Given the description of an element on the screen output the (x, y) to click on. 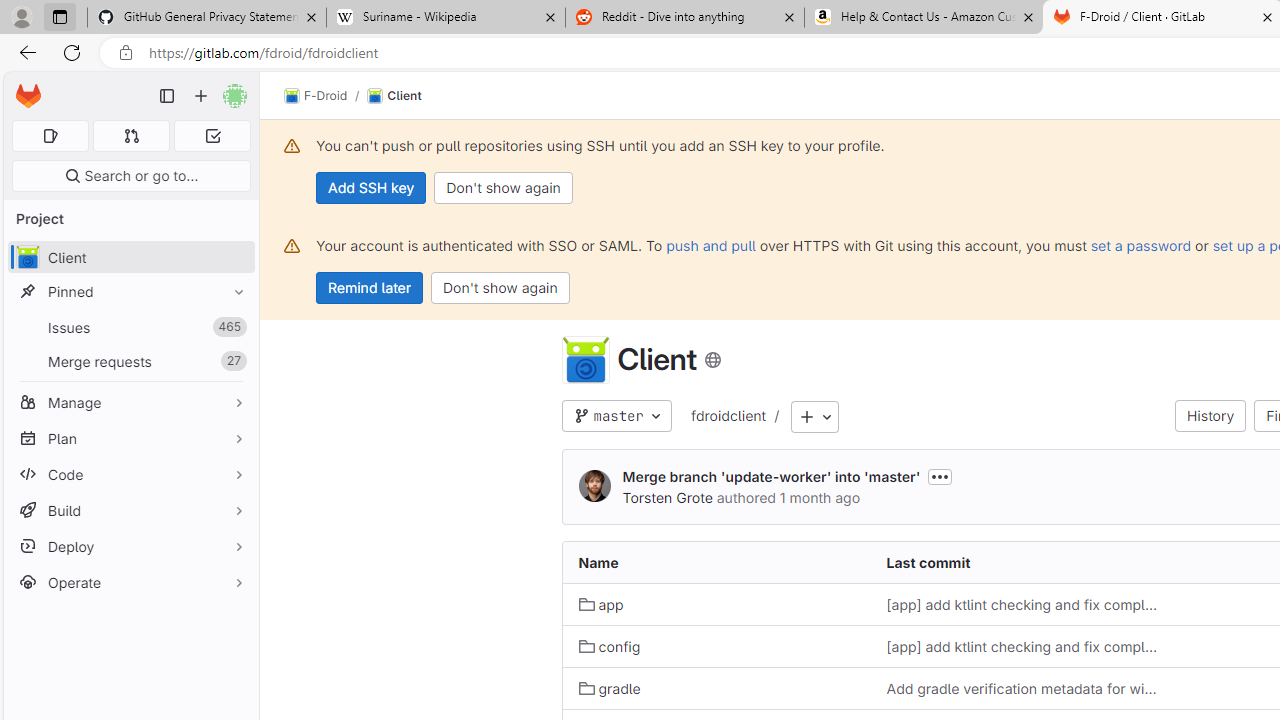
Remind later (369, 287)
Unpin Issues (234, 327)
Merge requests27 (130, 361)
Unpin Merge requests (234, 361)
Add gradle verification metadata for windows (1024, 688)
Issues 465 (130, 327)
Add SSH key (371, 187)
GitHub General Privacy Statement - GitHub Docs (207, 17)
F-Droid/ (326, 96)
Don't show again (500, 287)
Last commit (1024, 562)
Homepage (27, 96)
Client (394, 96)
Create new... (201, 96)
